Given the description of an element on the screen output the (x, y) to click on. 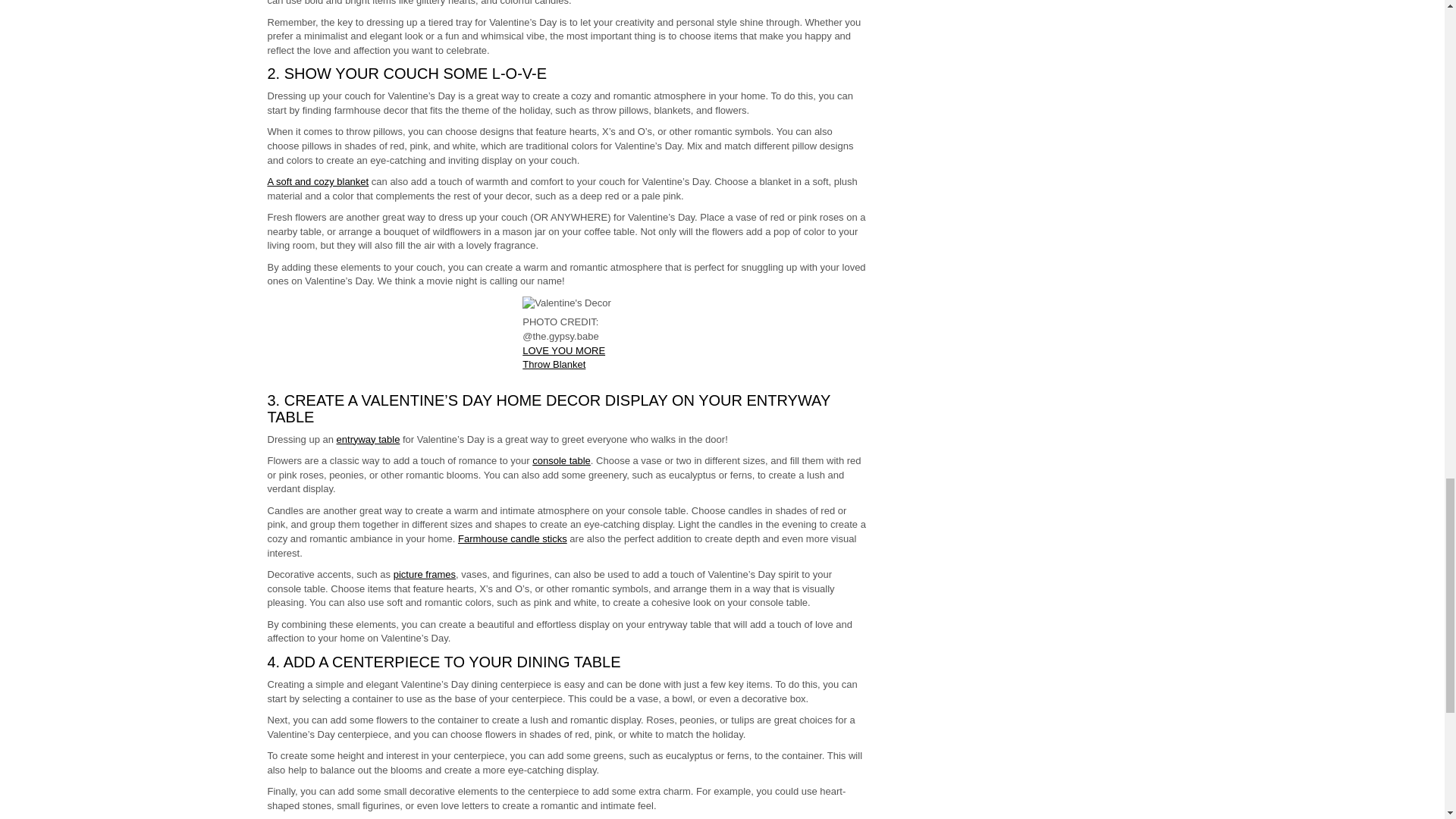
entryway table (368, 439)
A soft and cozy blanket (317, 181)
console table (561, 460)
LOVE YOU MORE Throw Blanket (563, 357)
Farmhouse candle sticks (512, 538)
picture frames (424, 573)
